Given the description of an element on the screen output the (x, y) to click on. 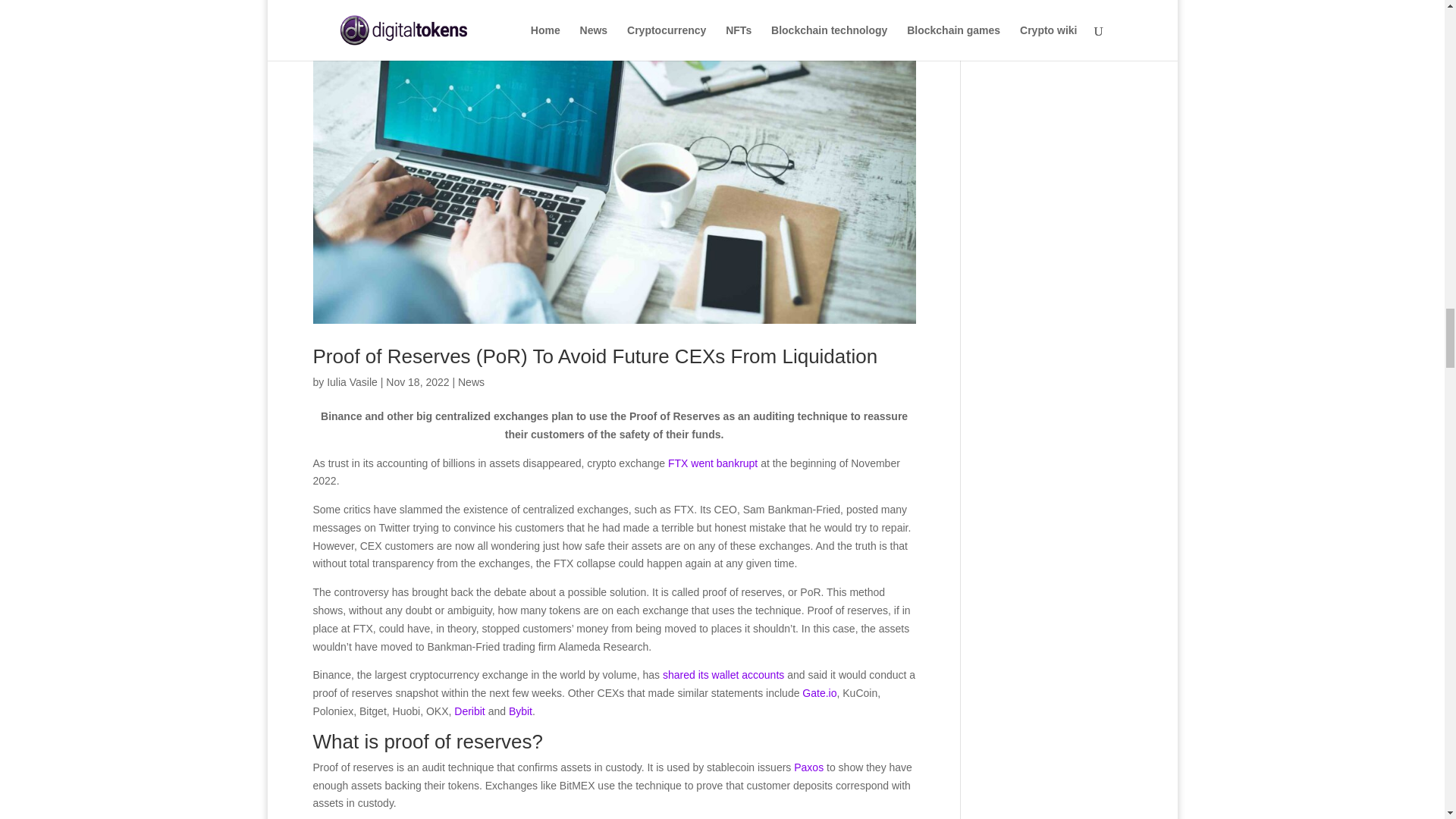
shared its wallet accounts (723, 674)
Gate.io (818, 693)
FTX went bankrupt (712, 462)
Posts by Iulia Vasile (351, 381)
Bybit (520, 711)
Iulia Vasile (351, 381)
Deribit (470, 711)
News (471, 381)
Paxos (808, 767)
